Given the description of an element on the screen output the (x, y) to click on. 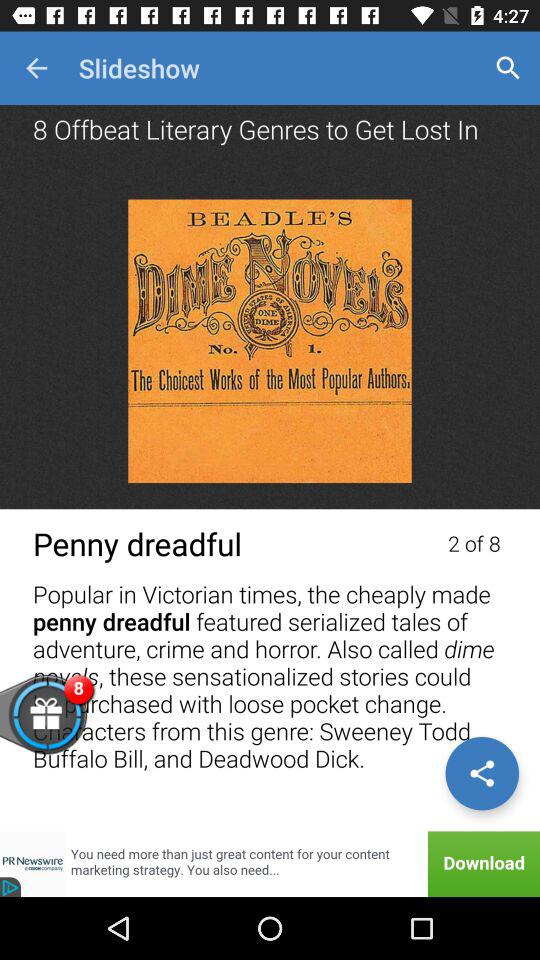
compartilhar (482, 773)
